Given the description of an element on the screen output the (x, y) to click on. 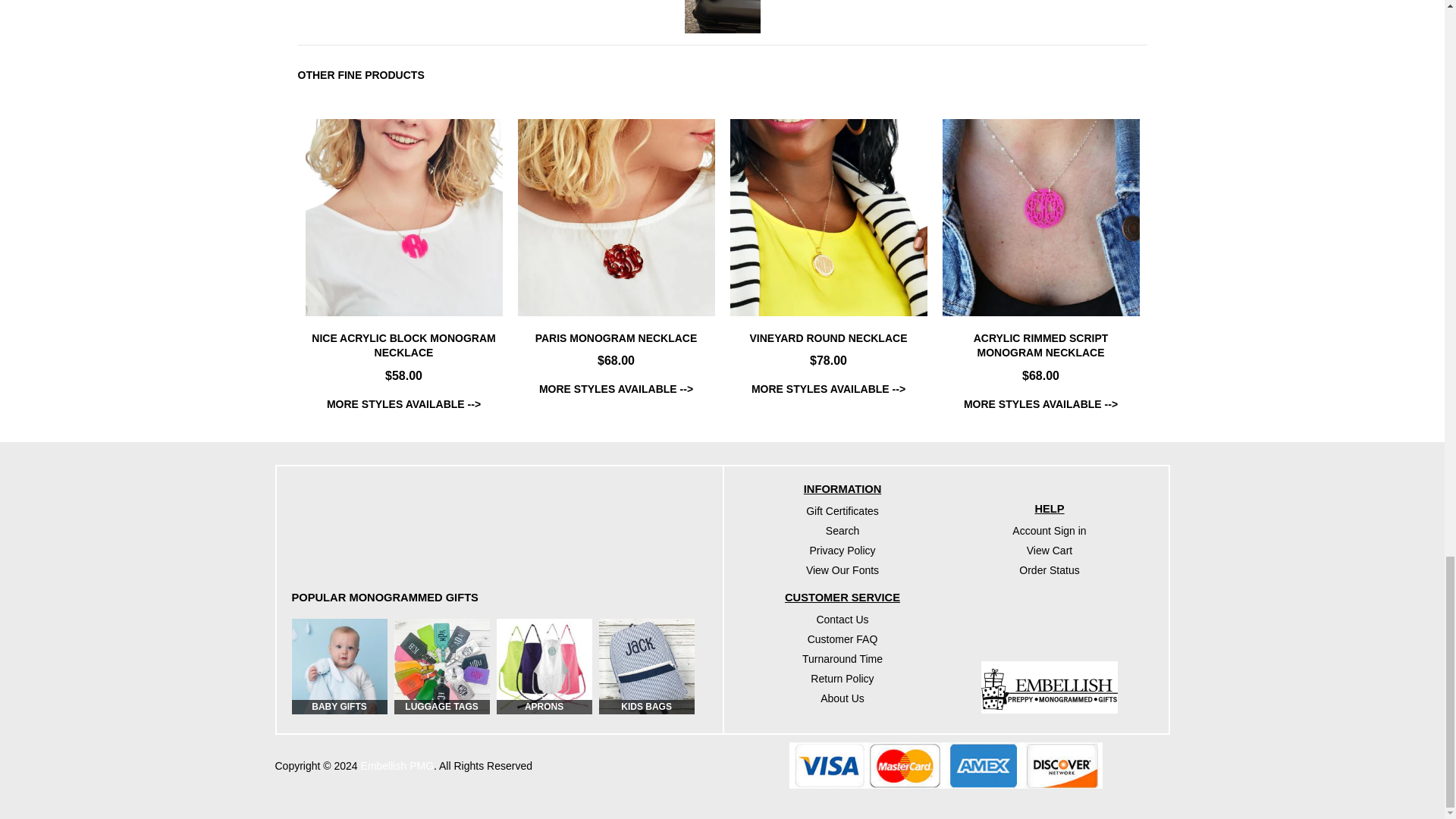
Rimmed Script Acrylic Necklace Hot Pink (1040, 217)
Nice Acrylic Monogram Necklace Hot Pink Lifestyle (403, 217)
Vineyard Round Monogram Necklace Blonde Tortoise (827, 217)
Paris Acrylic Monogram Necklace Lifestyle Tortoise (615, 217)
